Given the description of an element on the screen output the (x, y) to click on. 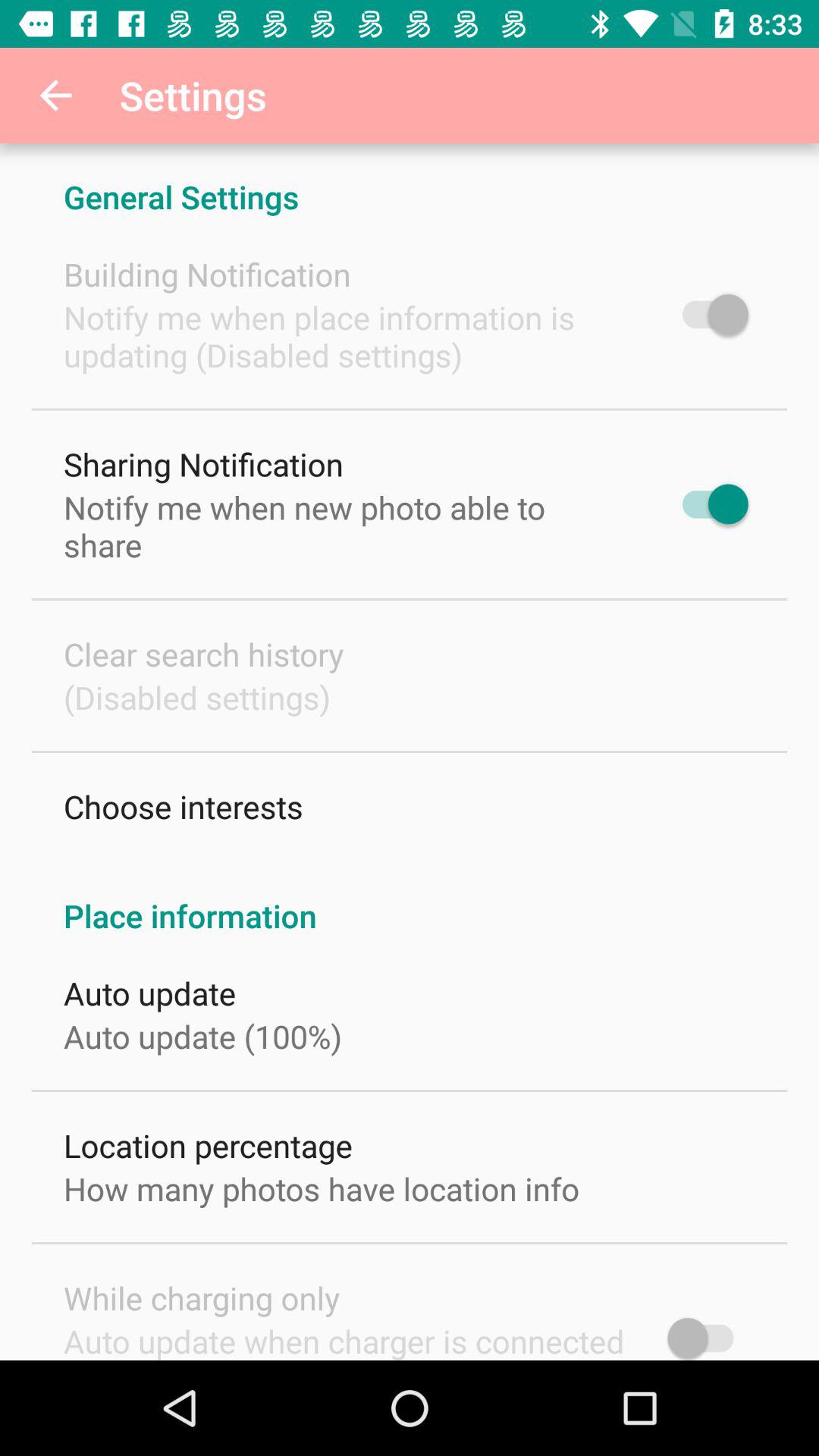
select item below the notify me when (203, 653)
